Given the description of an element on the screen output the (x, y) to click on. 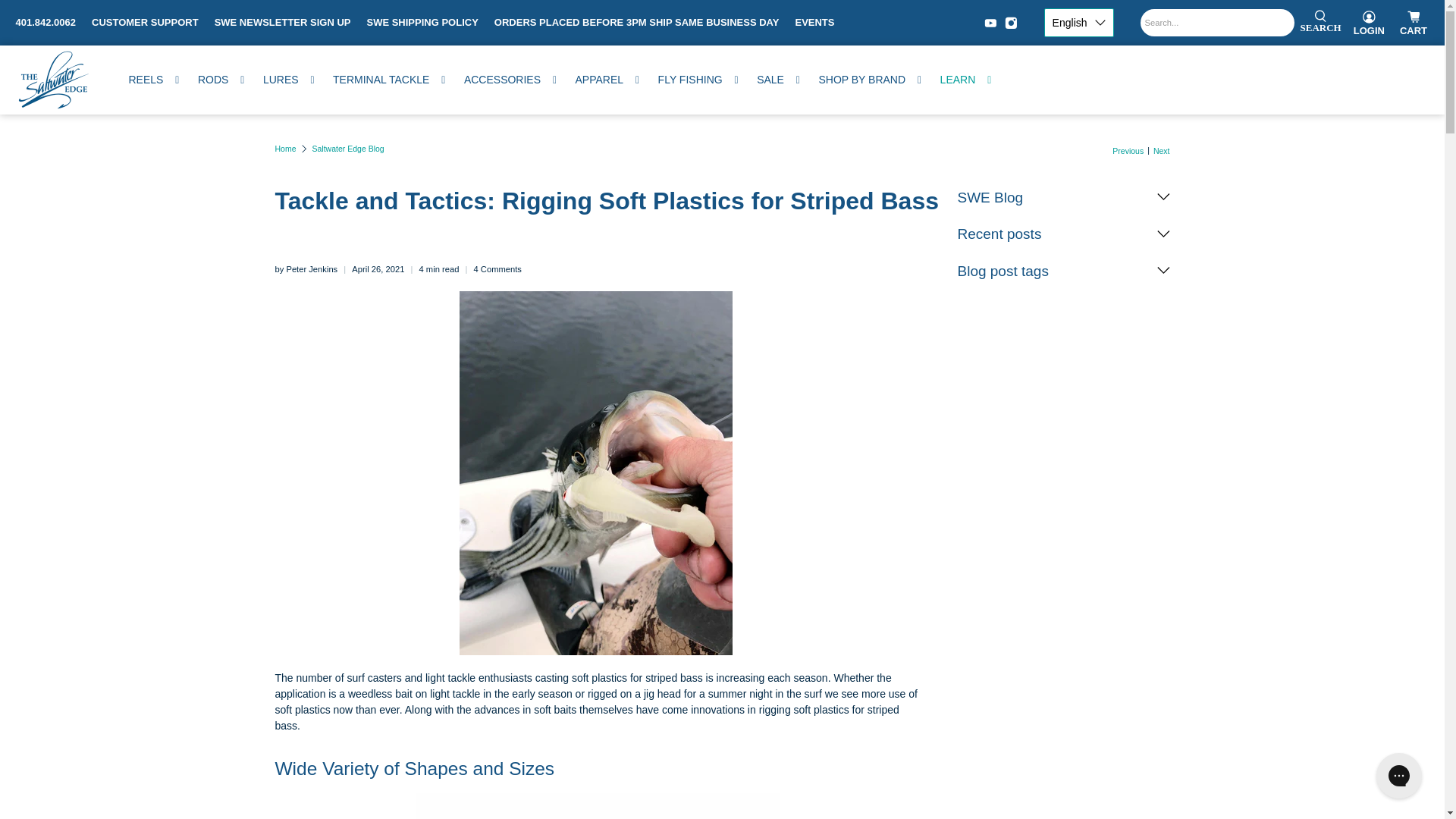
The Saltwater Edge on Instagram (1010, 22)
English (1078, 22)
The Saltwater Edge (285, 148)
Previous (1127, 151)
en (1078, 55)
Saltwater Edge Blog (348, 148)
The Saltwater Edge (52, 79)
SWE NEWSLETTER SIGN UP (282, 22)
Next (1161, 151)
The Saltwater Edge on YouTube (990, 22)
401.842.0062 (45, 22)
SWE SHIPPING POLICY (422, 22)
ORDERS PLACED BEFORE 3PM SHIP SAME BUSINESS DAY (636, 22)
CUSTOMER SUPPORT (145, 22)
es (1078, 83)
